Given the description of an element on the screen output the (x, y) to click on. 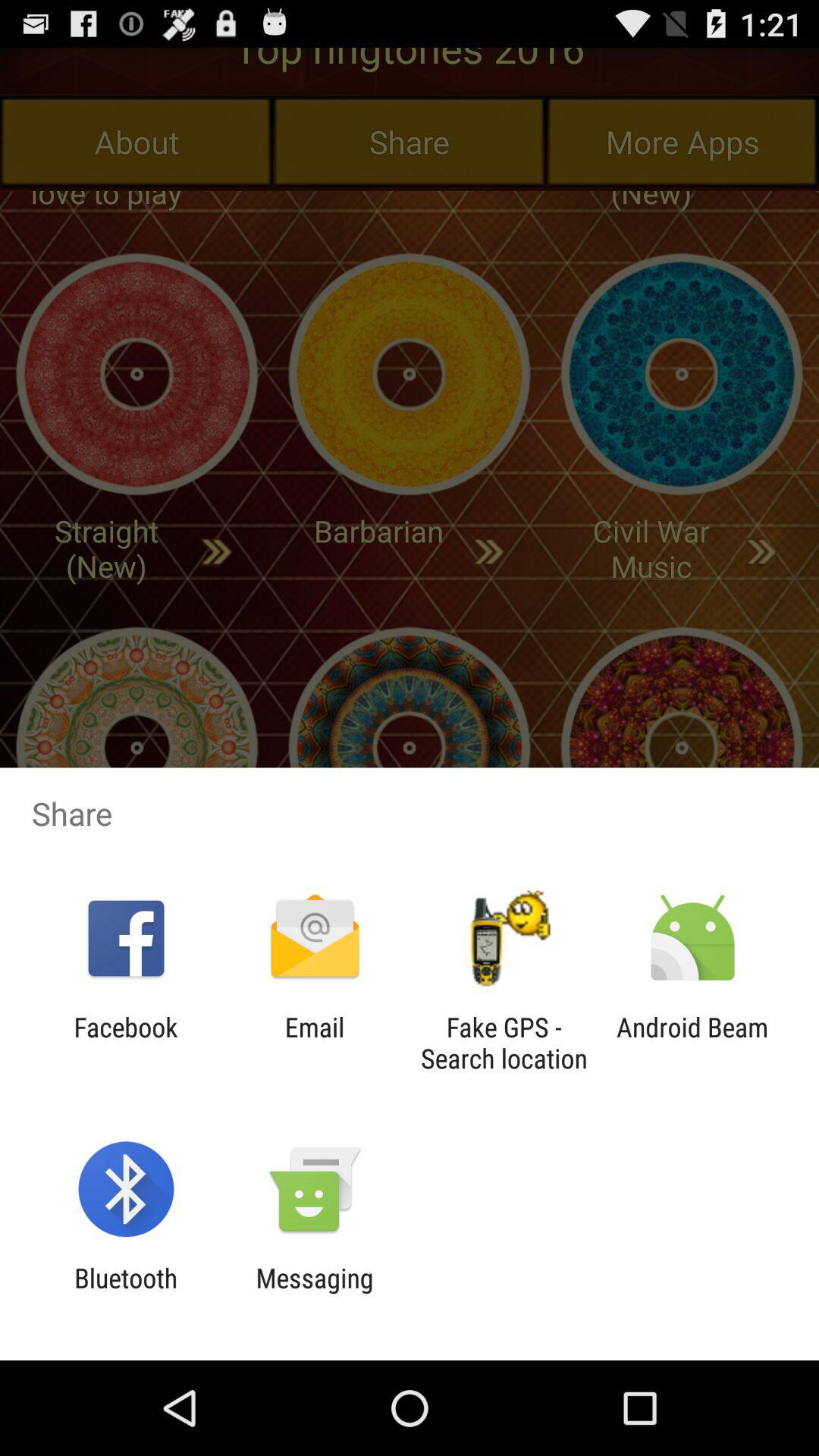
swipe until email icon (314, 1042)
